Given the description of an element on the screen output the (x, y) to click on. 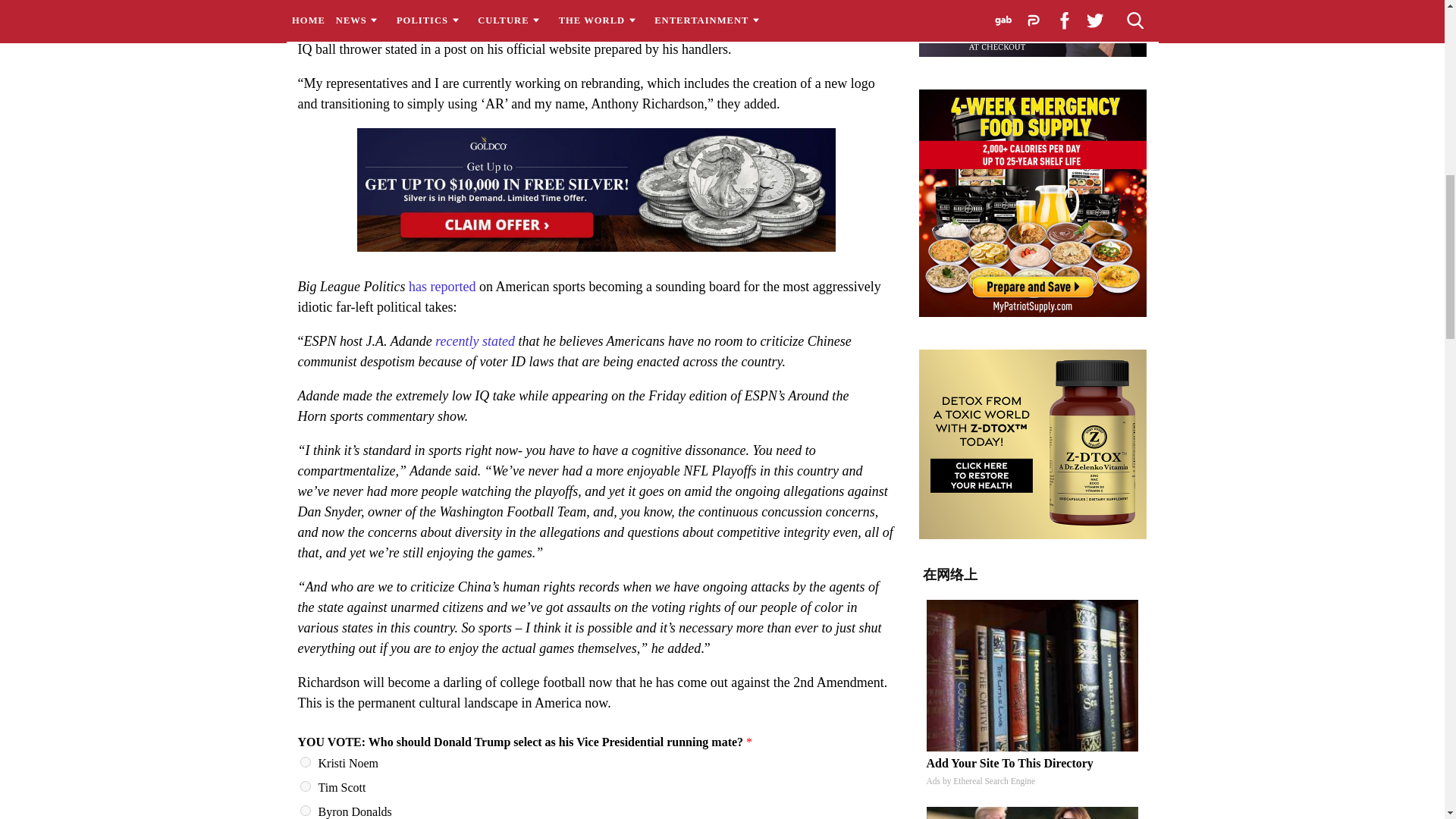
Tim Scott (305, 786)
Kristi Noem (305, 761)
Byron Donalds (305, 810)
